Given the description of an element on the screen output the (x, y) to click on. 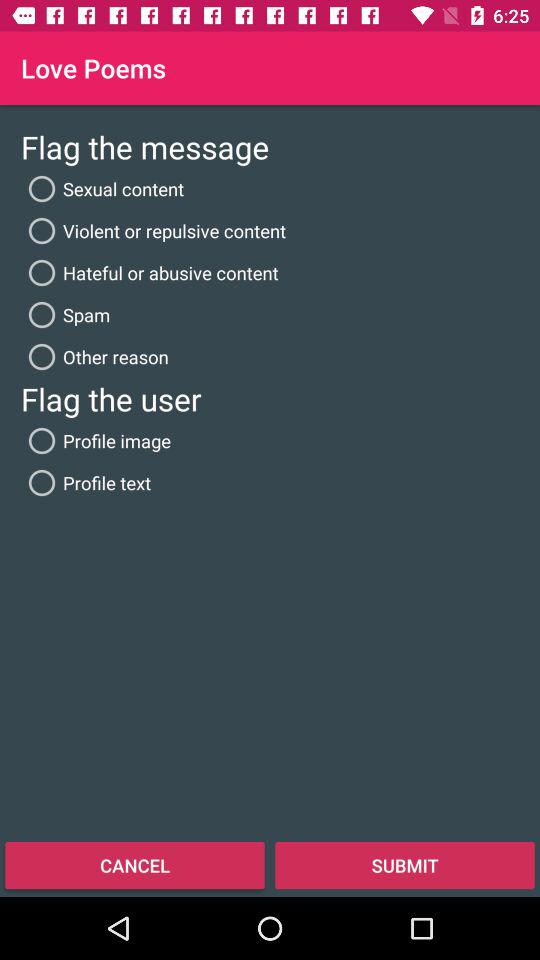
tap app below the flag the message (102, 188)
